Given the description of an element on the screen output the (x, y) to click on. 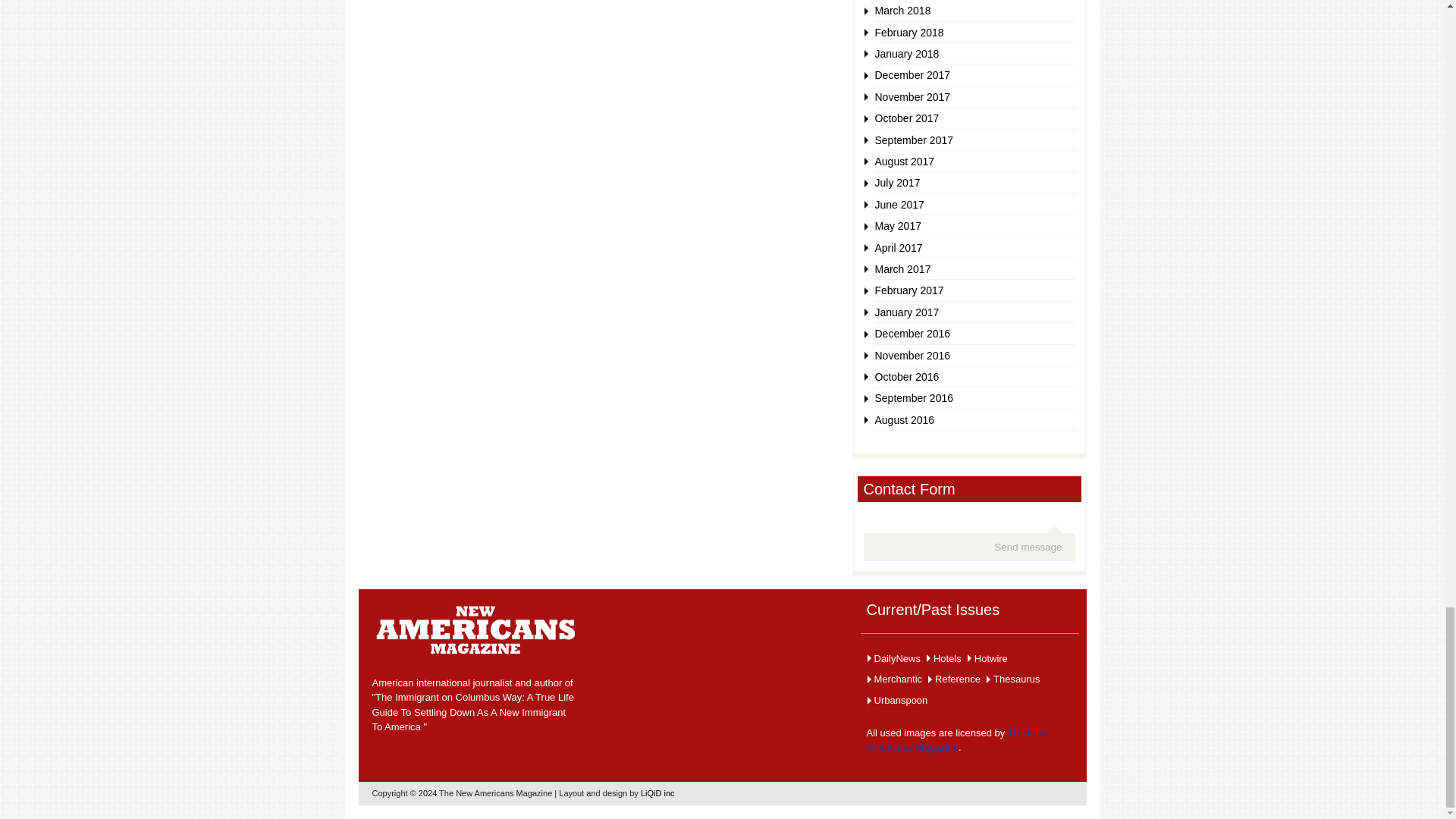
Send message (1028, 546)
